Given the description of an element on the screen output the (x, y) to click on. 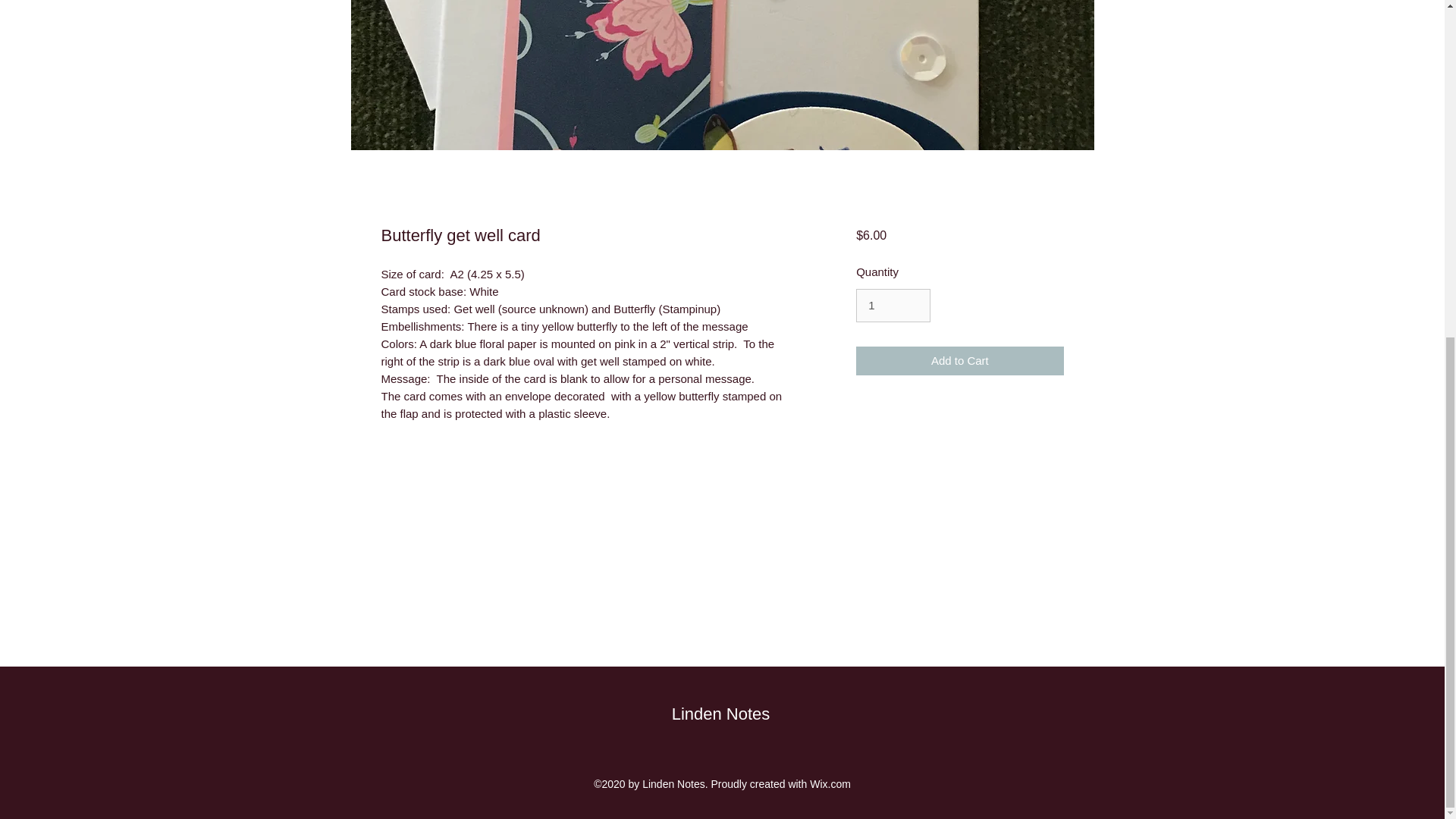
Linden Notes (720, 713)
1 (893, 305)
Add to Cart (959, 360)
